Given the description of an element on the screen output the (x, y) to click on. 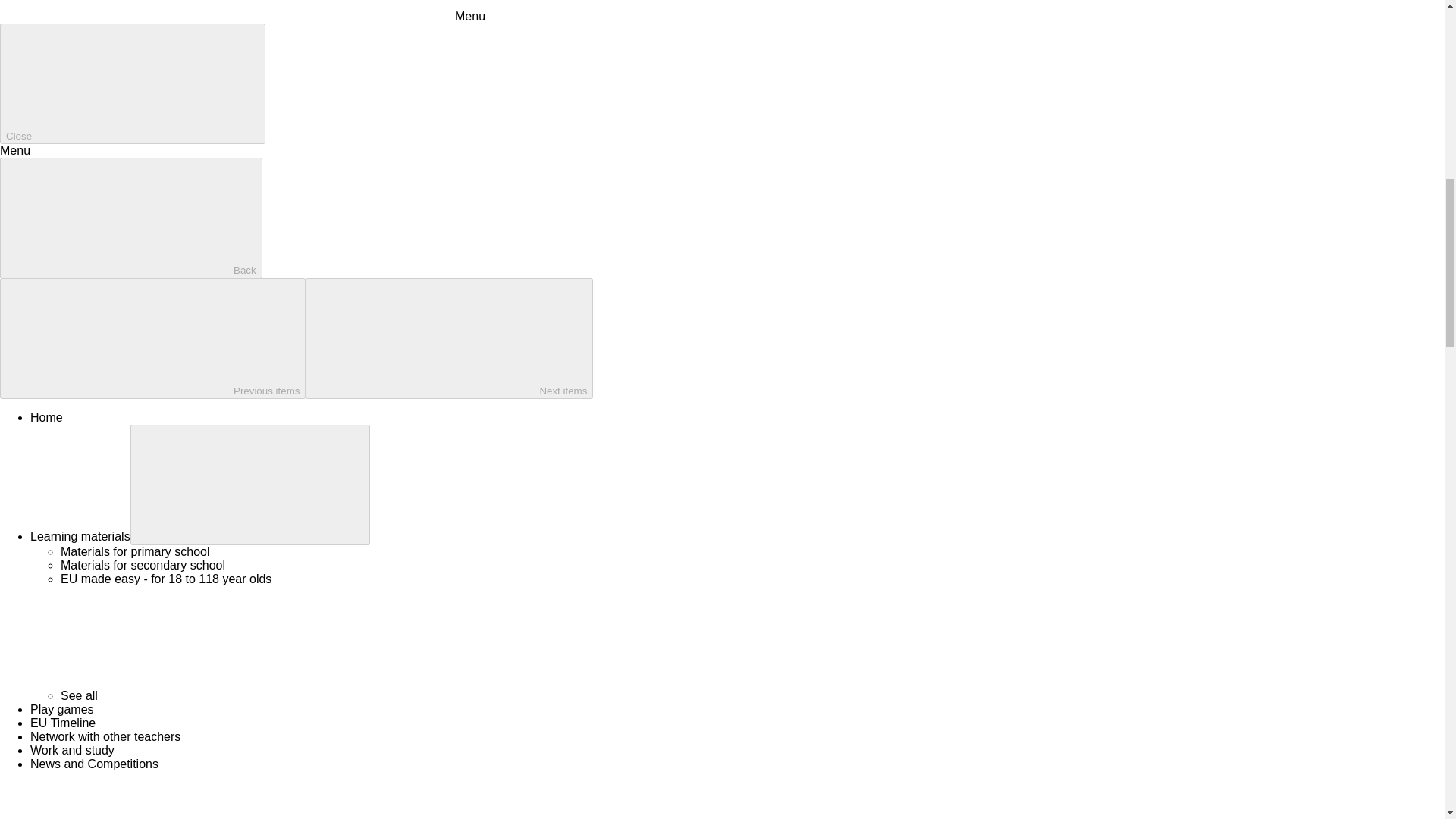
Previous items (152, 338)
Next items (448, 338)
Play games (62, 708)
EU Timeline (63, 722)
Home (46, 417)
Close (132, 83)
Work and study (72, 749)
Menu (242, 15)
See all (192, 695)
Learning materials (80, 535)
Back (131, 218)
Network with other teachers (105, 736)
Materials for primary school (135, 551)
News and Competitions (94, 763)
EU made easy - for 18 to 118 year olds (165, 578)
